Given the description of an element on the screen output the (x, y) to click on. 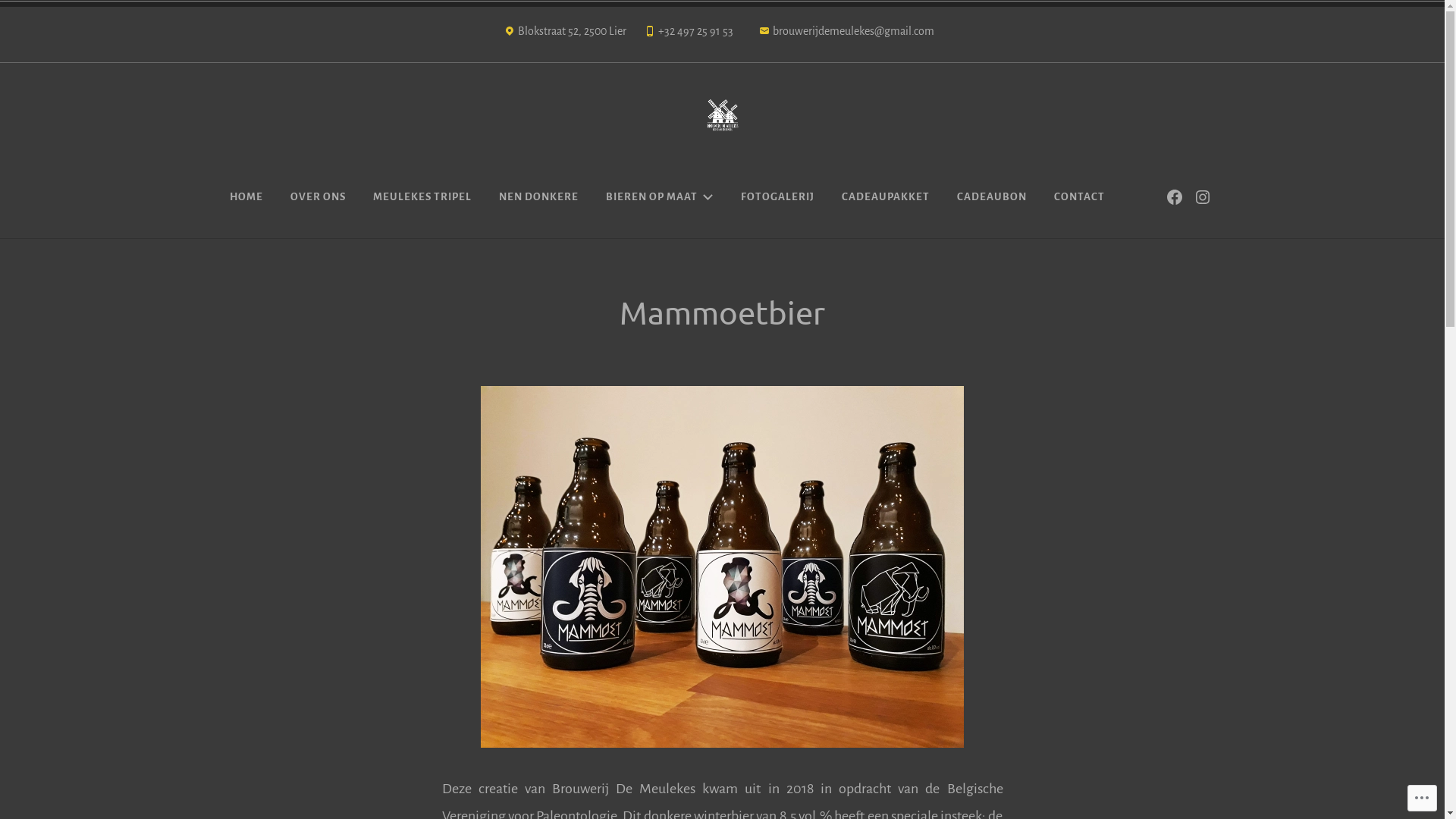
OVER ONS Element type: text (318, 196)
NEN DONKERE Element type: text (537, 196)
CONTACT Element type: text (1078, 196)
MEULEKES TRIPEL Element type: text (421, 196)
Brouwerij De Meulekes Element type: text (395, 171)
BIEREN OP MAAT Element type: text (659, 196)
Telefoon +32 497 25 91 53 Element type: text (687, 34)
Zoeken Element type: text (28, 13)
E-mailadres brouwerijdemeulekes@gmail.com Element type: text (845, 34)
CADEAUPAKKET Element type: text (884, 196)
Locatie Blokstraat 52, 2500 Lier Element type: text (564, 34)
HOME Element type: text (246, 196)
FOTOGALERIJ Element type: text (777, 196)
CADEAUBON Element type: text (990, 196)
